Given the description of an element on the screen output the (x, y) to click on. 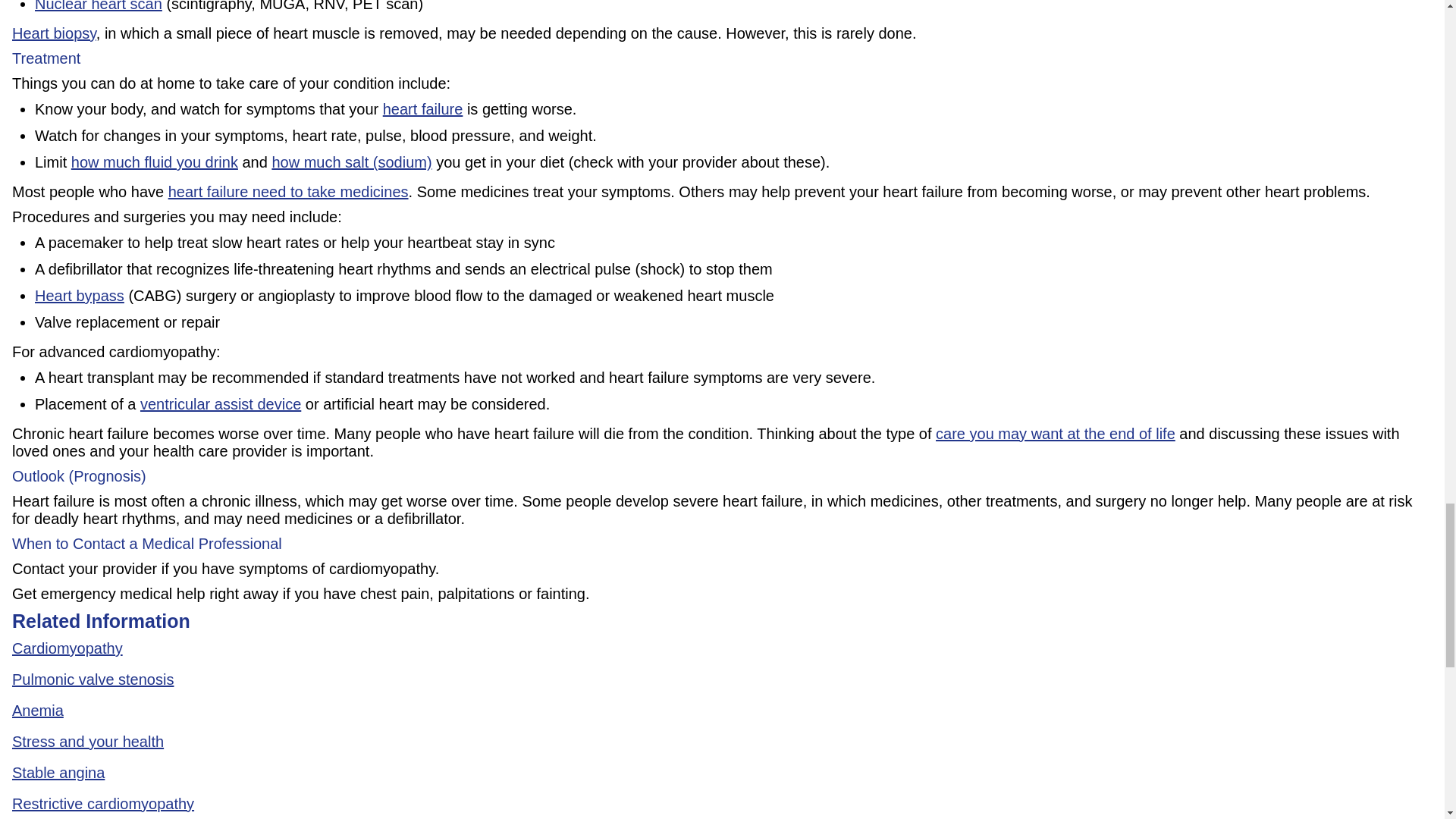
Pulmonic valve stenosis (92, 679)
Stress and your health (87, 742)
Heart biopsy (53, 33)
Heart bypass (78, 295)
Restrictive cardiomyopathy (102, 804)
heart failure need to take medicines (288, 191)
Cardiomyopathy (66, 648)
Nuclear heart scan (97, 6)
care you may want at the end of life (1055, 433)
ventricular assist device (220, 403)
